Given the description of an element on the screen output the (x, y) to click on. 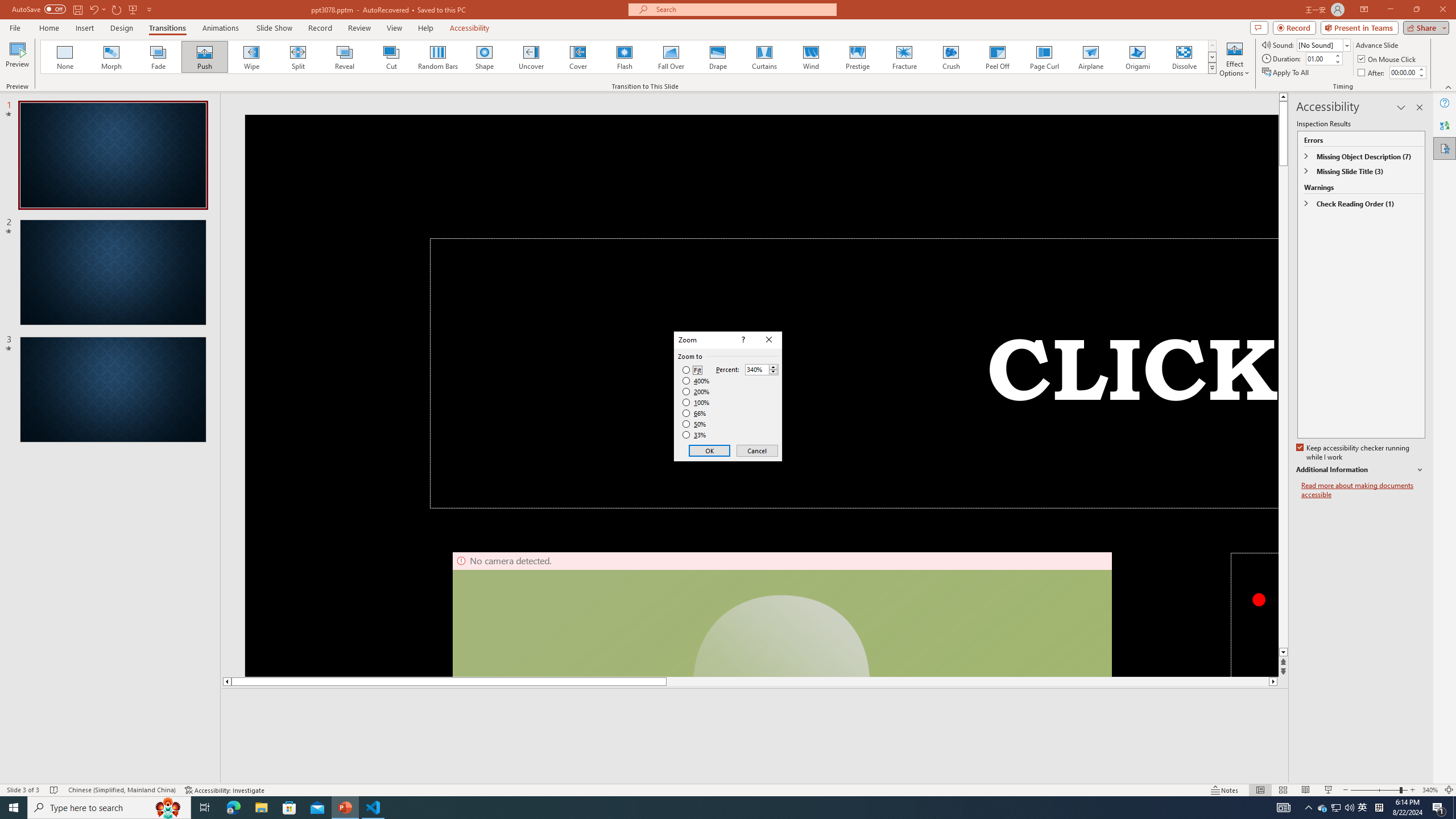
Dissolve (1183, 56)
Page Curl (1043, 56)
